Given the description of an element on the screen output the (x, y) to click on. 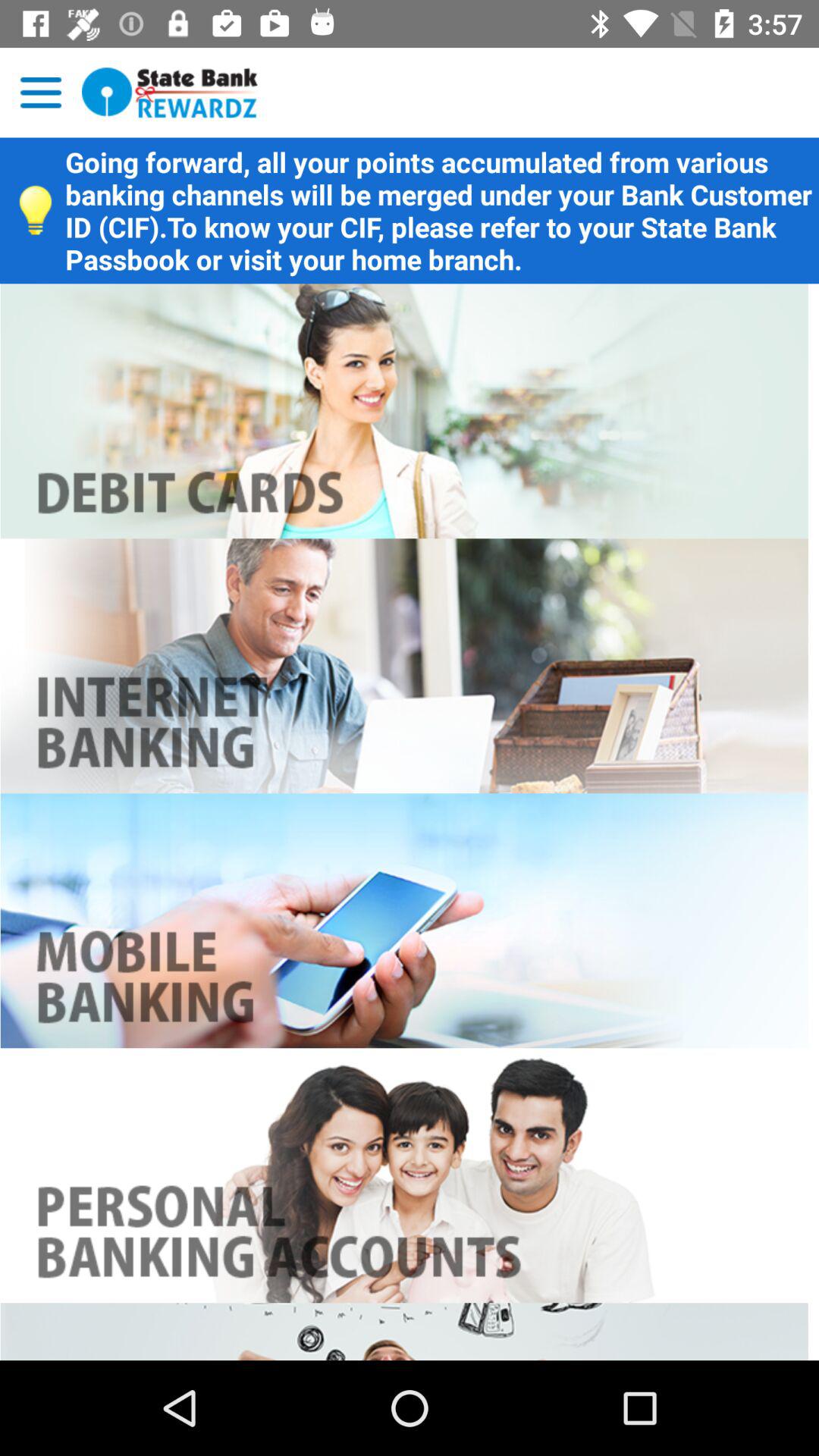
go to home page of app (169, 92)
